Given the description of an element on the screen output the (x, y) to click on. 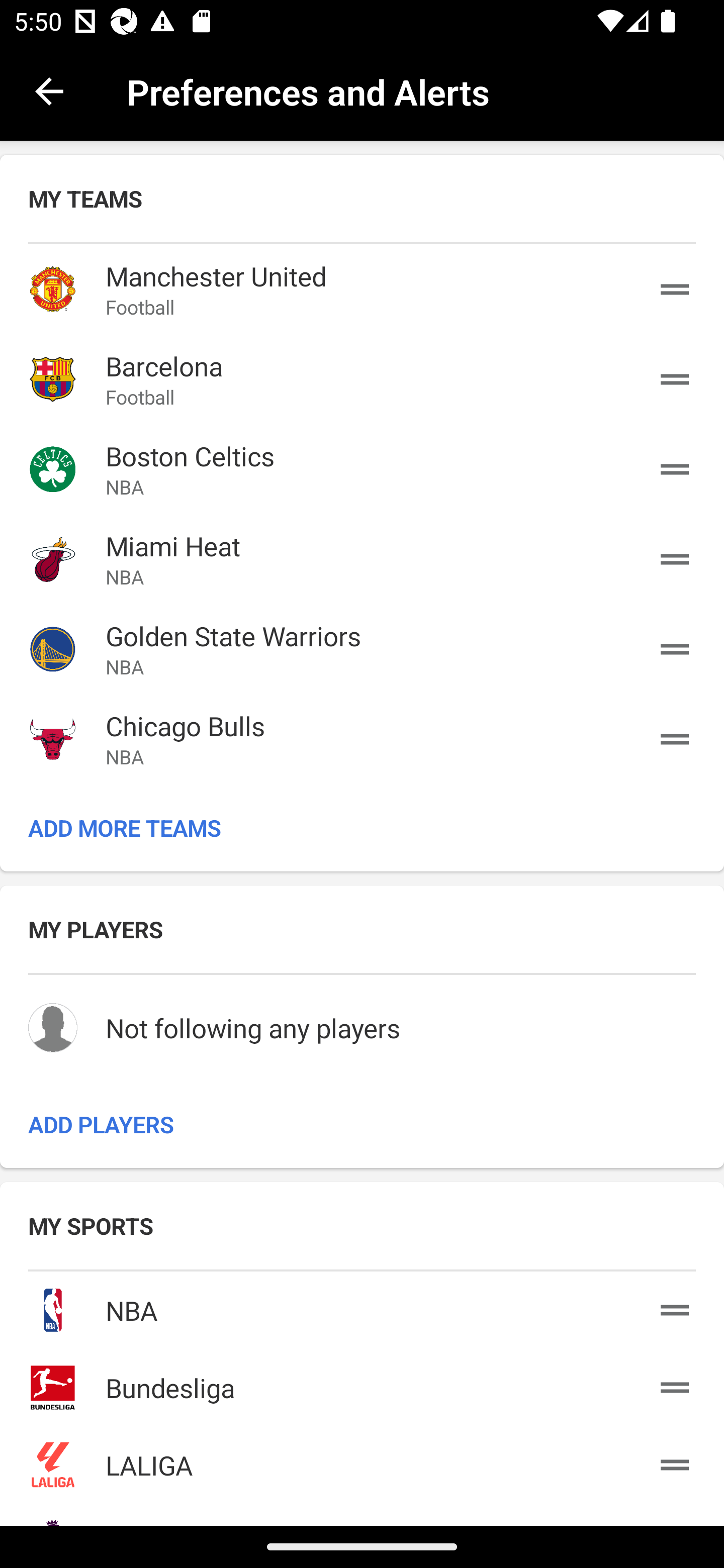
back.button (49, 90)
Barcelona Barcelona Barcelona Football Football (362, 378)
Miami Heat Miami Heat Miami Heat NBA NBA (362, 558)
Chicago Bulls Chicago Bulls Chicago Bulls NBA NBA (362, 739)
ADD MORE TEAMS (362, 827)
ADD PLAYERS (362, 1124)
NBA NBA NBA (362, 1306)
Bundesliga Bundesliga Bundesliga (362, 1383)
LALIGA LALIGA LALIGA (362, 1461)
